Given the description of an element on the screen output the (x, y) to click on. 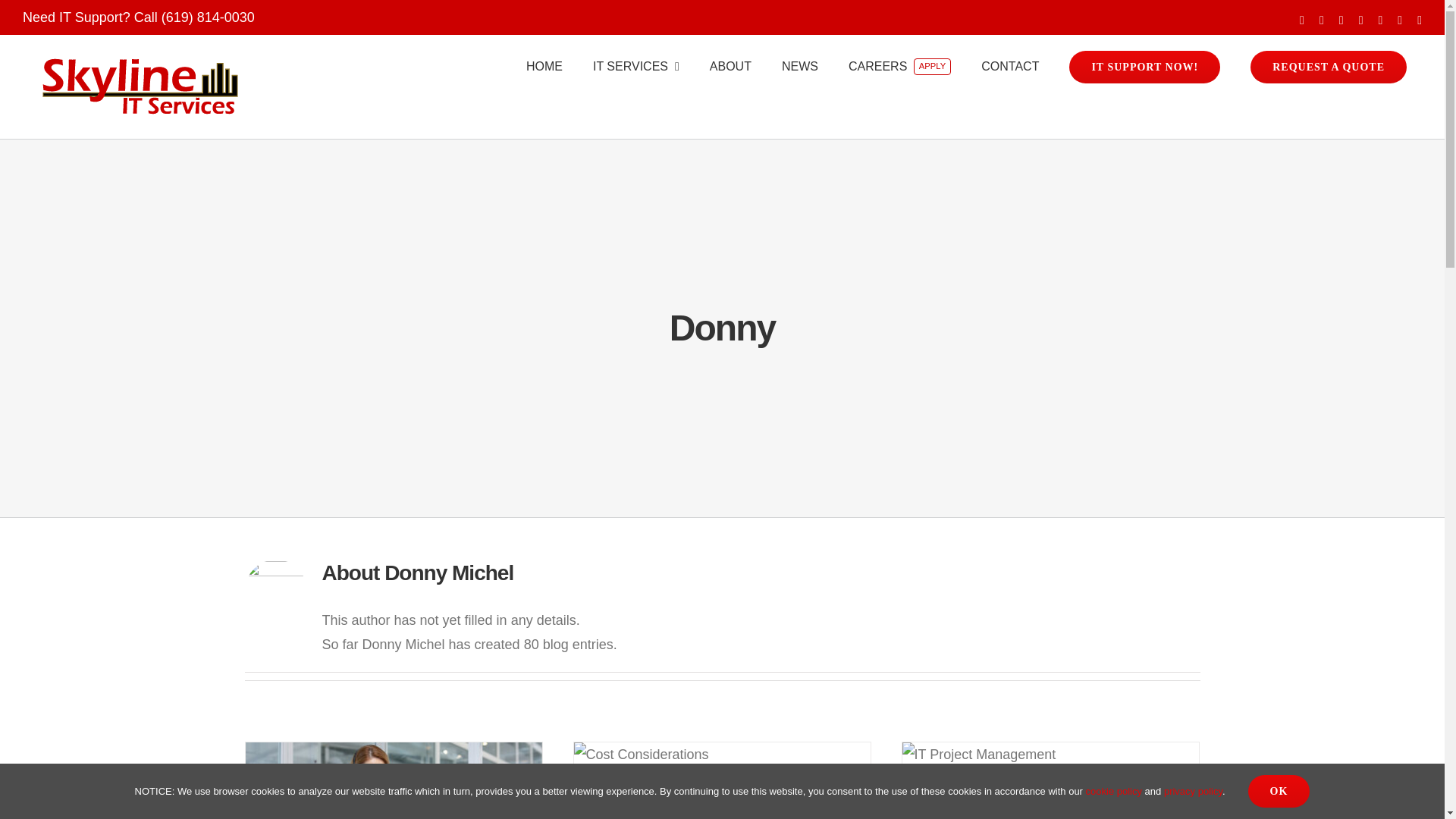
CONTACT (1010, 66)
Twitter (1341, 20)
YouTube (1360, 20)
Facebook (1302, 20)
LinkedIn (1379, 20)
Google (1419, 20)
ABOUT (730, 66)
Google (1419, 20)
Facebook (1302, 20)
YouTube (1360, 20)
LinkedIn (1379, 20)
HOME (544, 66)
IT SUPPORT NOW! (1144, 66)
NEWS (799, 66)
Yelp (1399, 20)
